Given the description of an element on the screen output the (x, y) to click on. 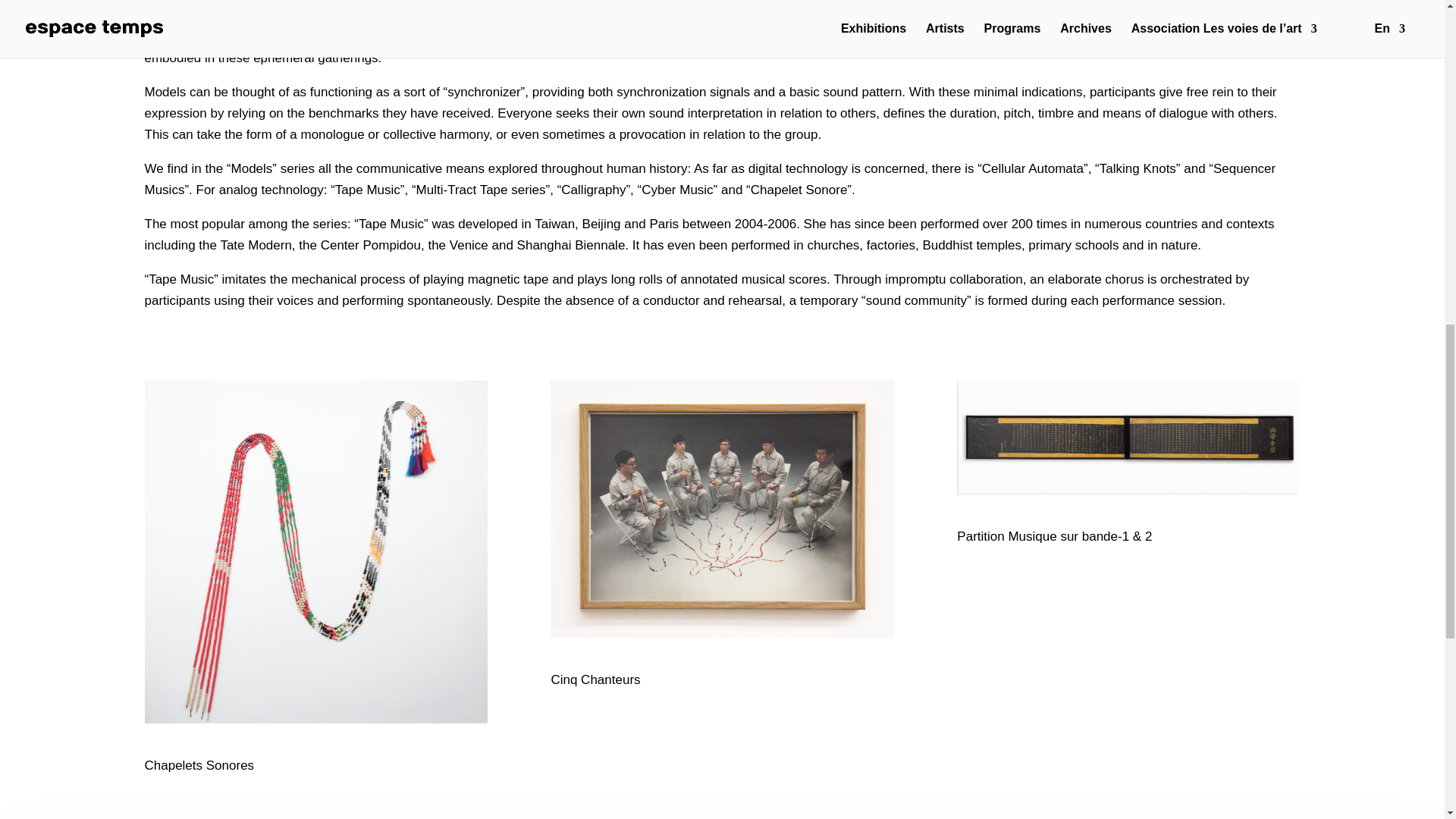
Cinq Chanteurs (721, 509)
Chapelets Sonores (315, 551)
